Given the description of an element on the screen output the (x, y) to click on. 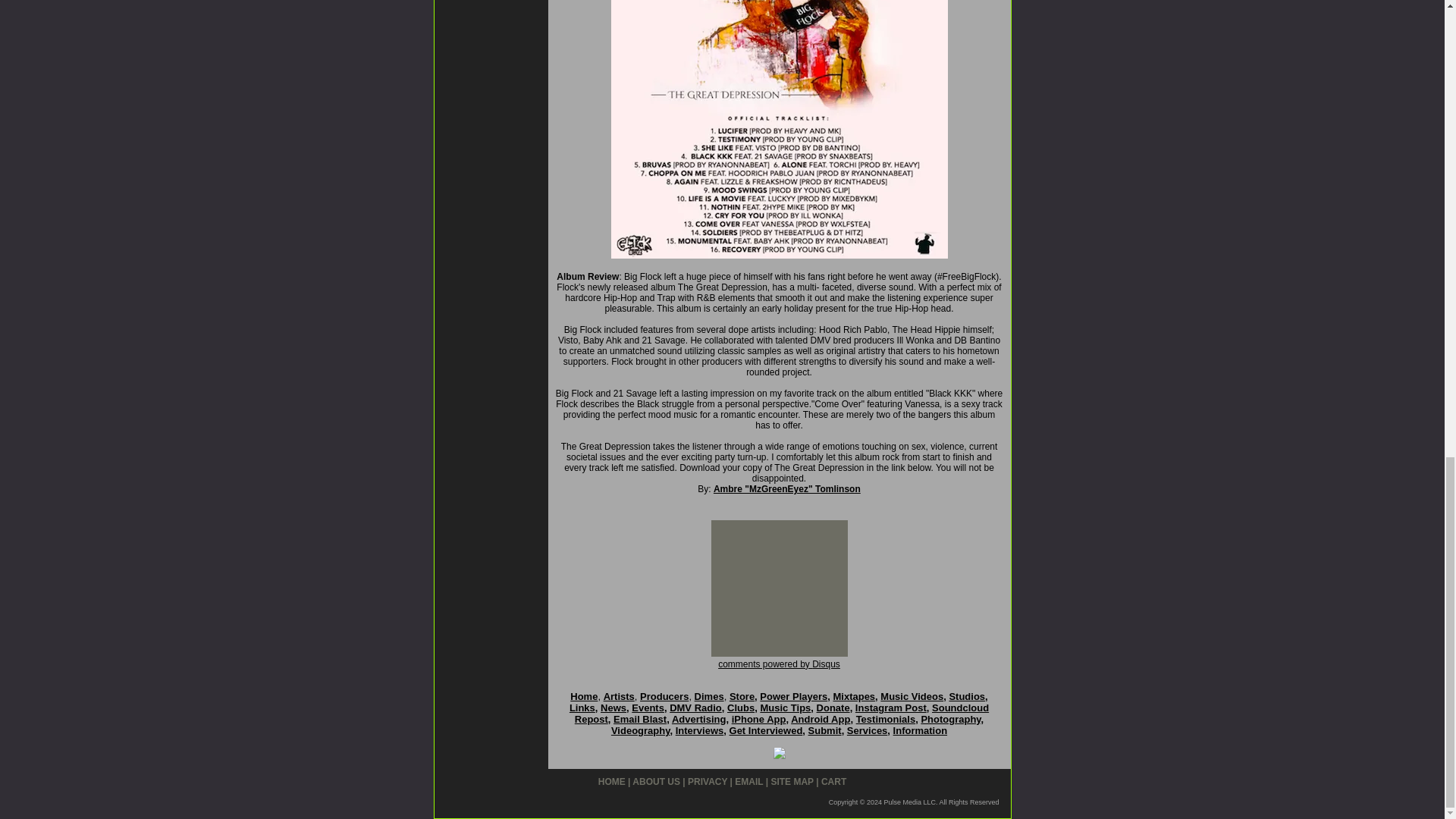
News (612, 707)
Soundcloud Repost (781, 712)
DMV Radio (695, 707)
Studios (967, 696)
Ambre "MzGreenEyez" Tomlinson (786, 489)
Advertising (698, 718)
Mixtapes (853, 696)
Home (583, 696)
Android App (820, 718)
Email Blast (639, 718)
